Given the description of an element on the screen output the (x, y) to click on. 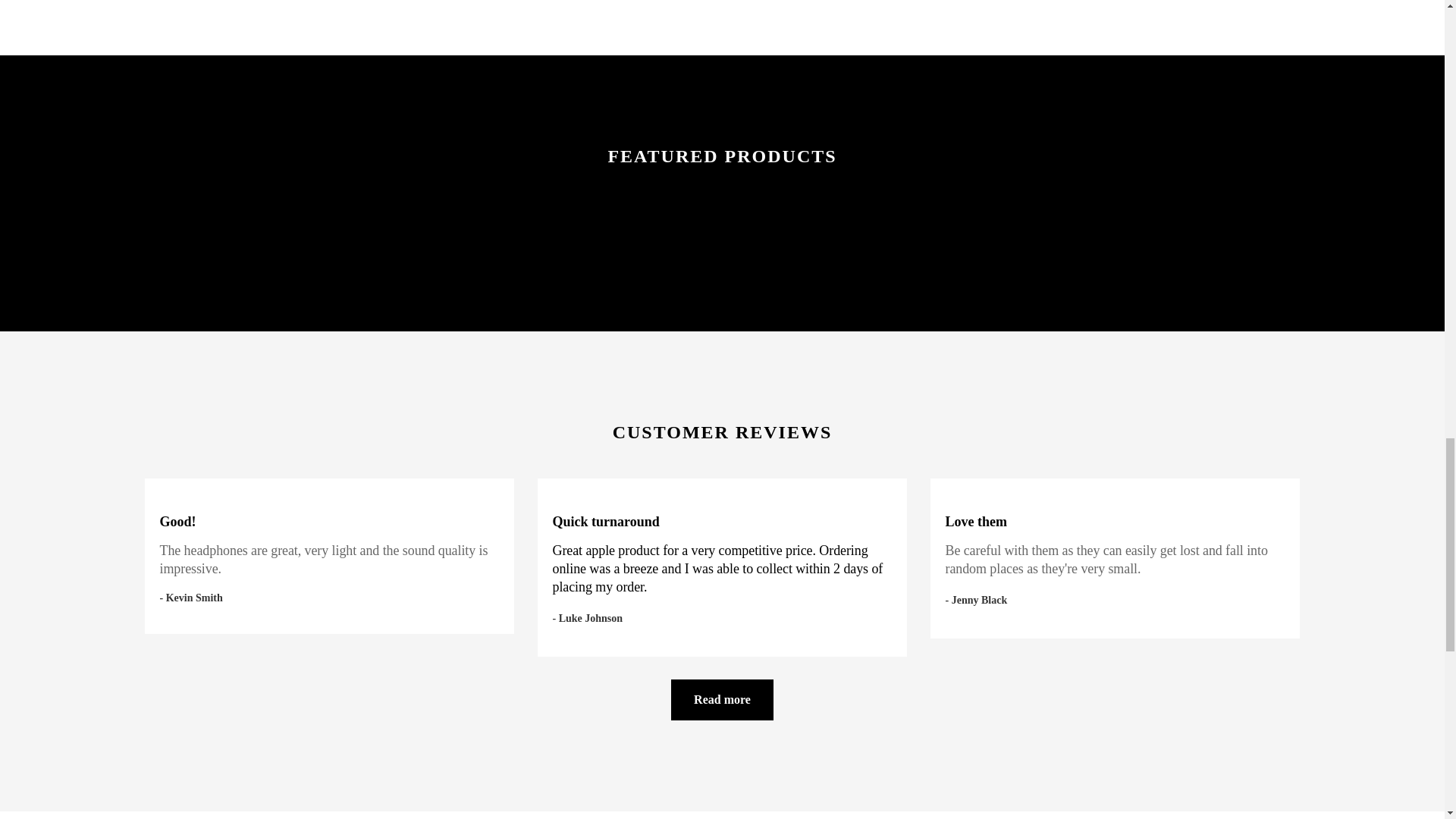
Read more (722, 699)
